Given the description of an element on the screen output the (x, y) to click on. 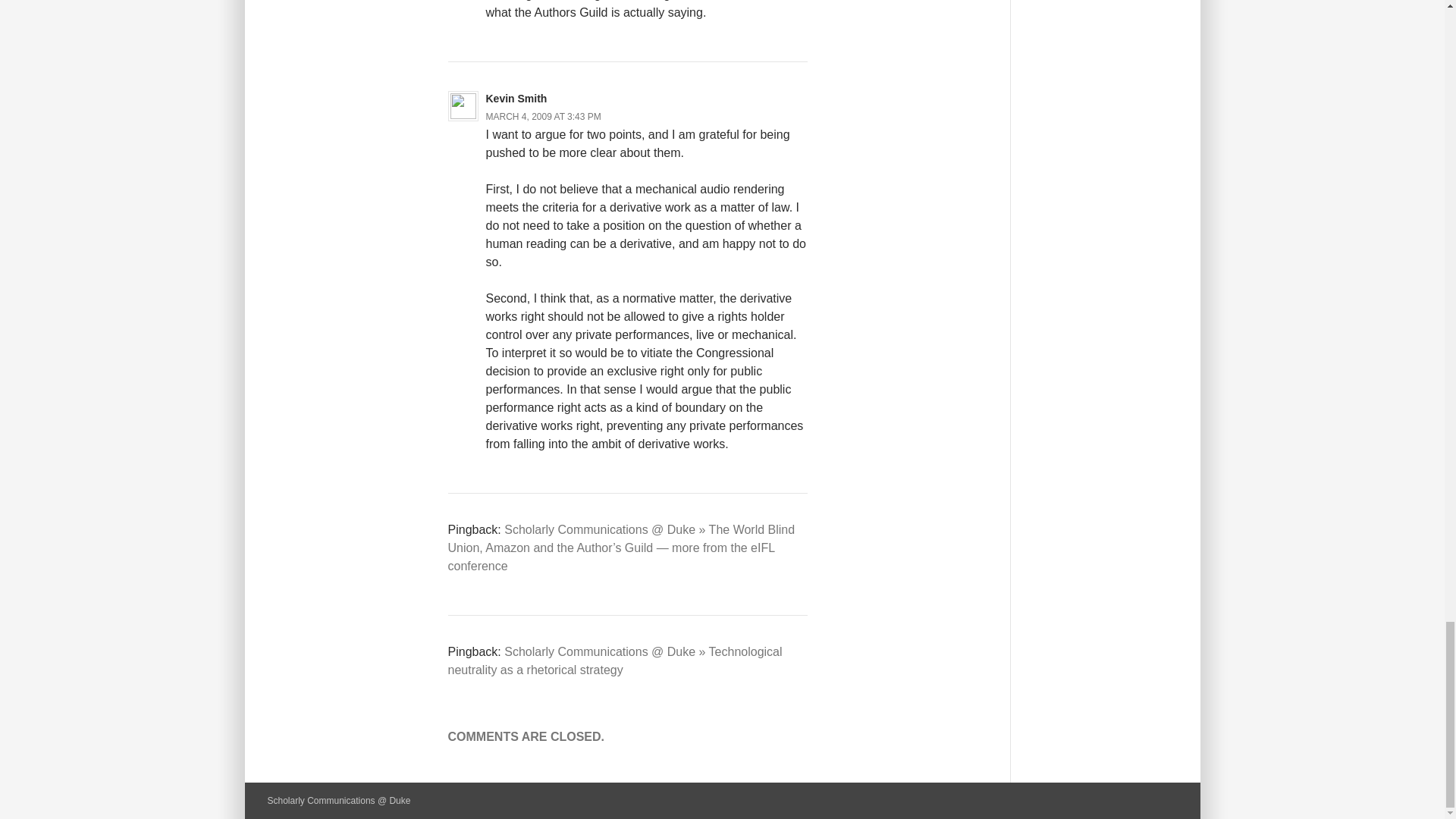
MARCH 4, 2009 AT 3:43 PM (541, 116)
Kevin Smith (515, 98)
